Given the description of an element on the screen output the (x, y) to click on. 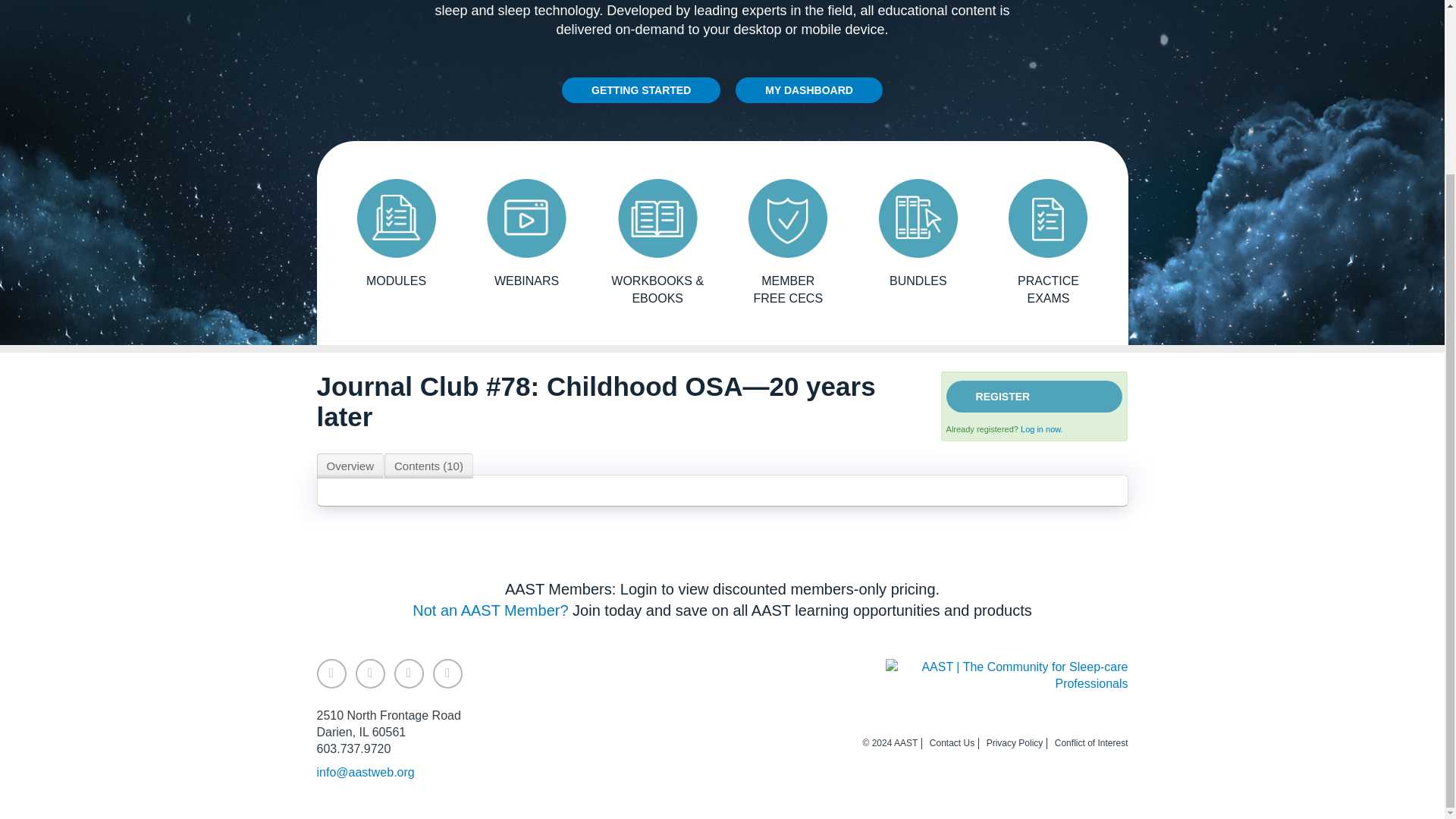
GETTING STARTED (641, 89)
WEBINARS (526, 234)
BUNDLES (918, 234)
MY DASHBOARD (808, 89)
REGISTER (1034, 396)
Overview (350, 466)
Log in now. (1041, 429)
MODULES (396, 234)
